Given the description of an element on the screen output the (x, y) to click on. 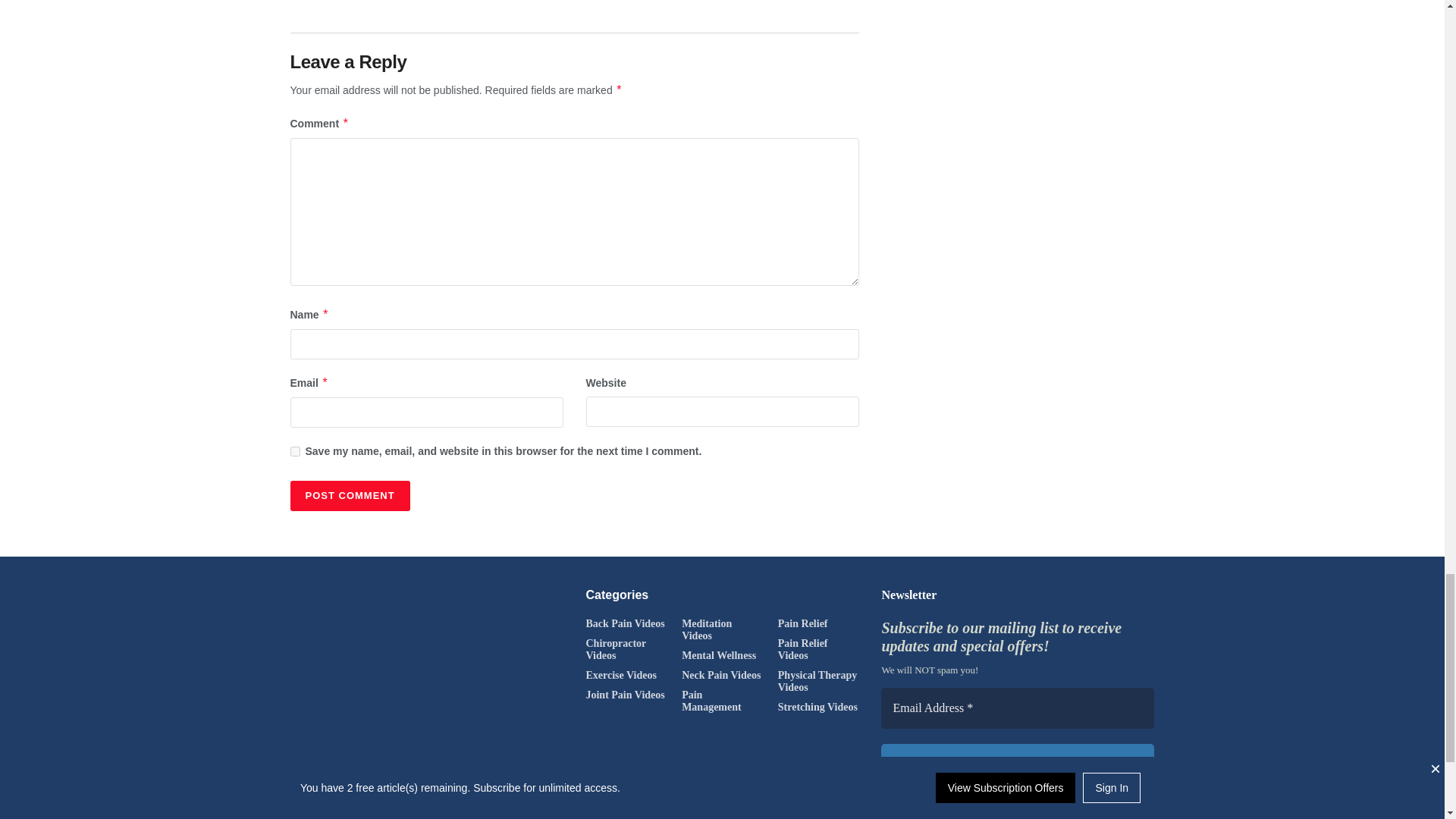
Subscribe (1017, 763)
Post Comment (349, 495)
yes (294, 451)
